Given the description of an element on the screen output the (x, y) to click on. 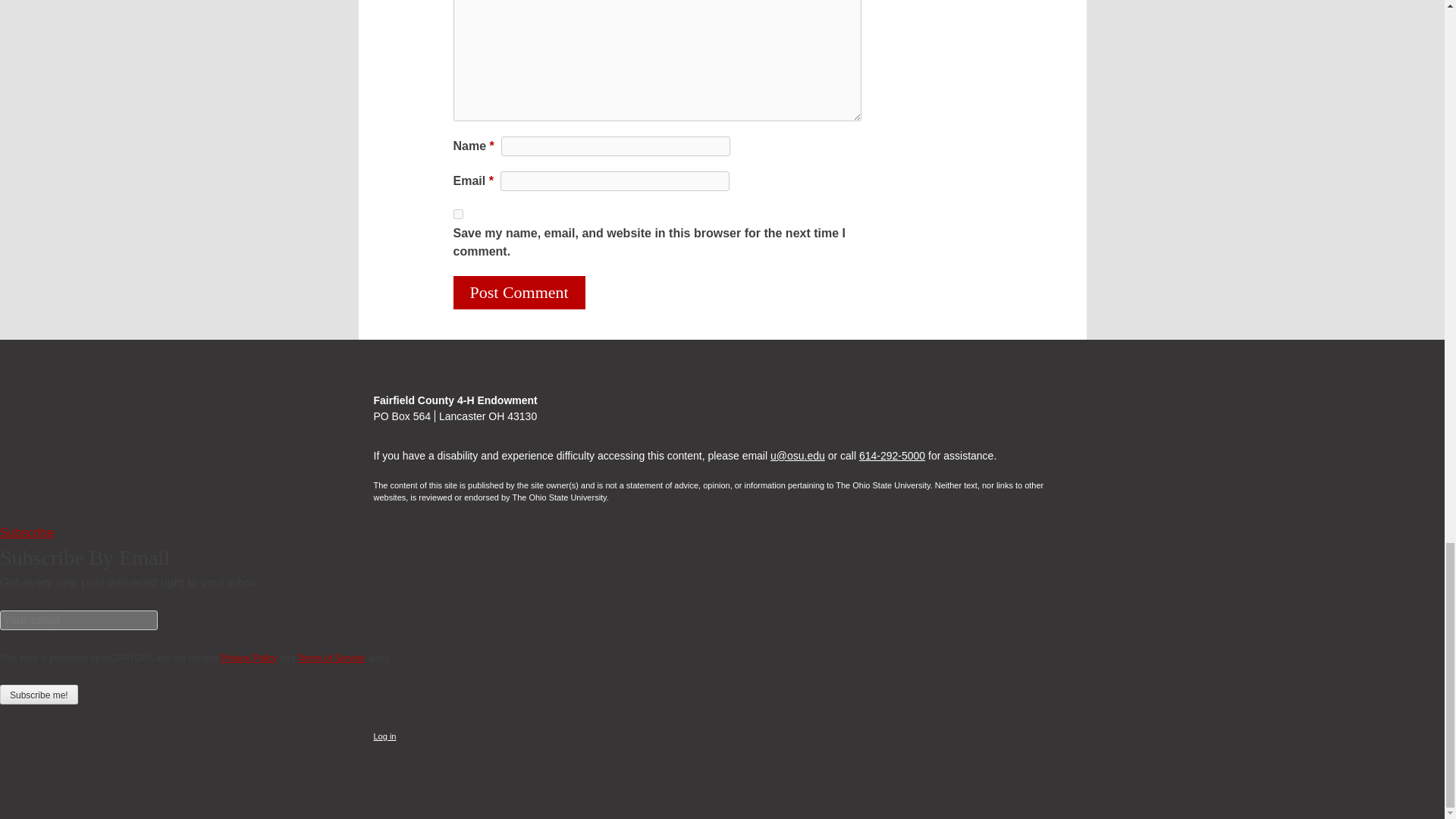
yes (457, 214)
Post Comment (518, 292)
Subscribe me! (39, 694)
Post Comment (518, 292)
